Given the description of an element on the screen output the (x, y) to click on. 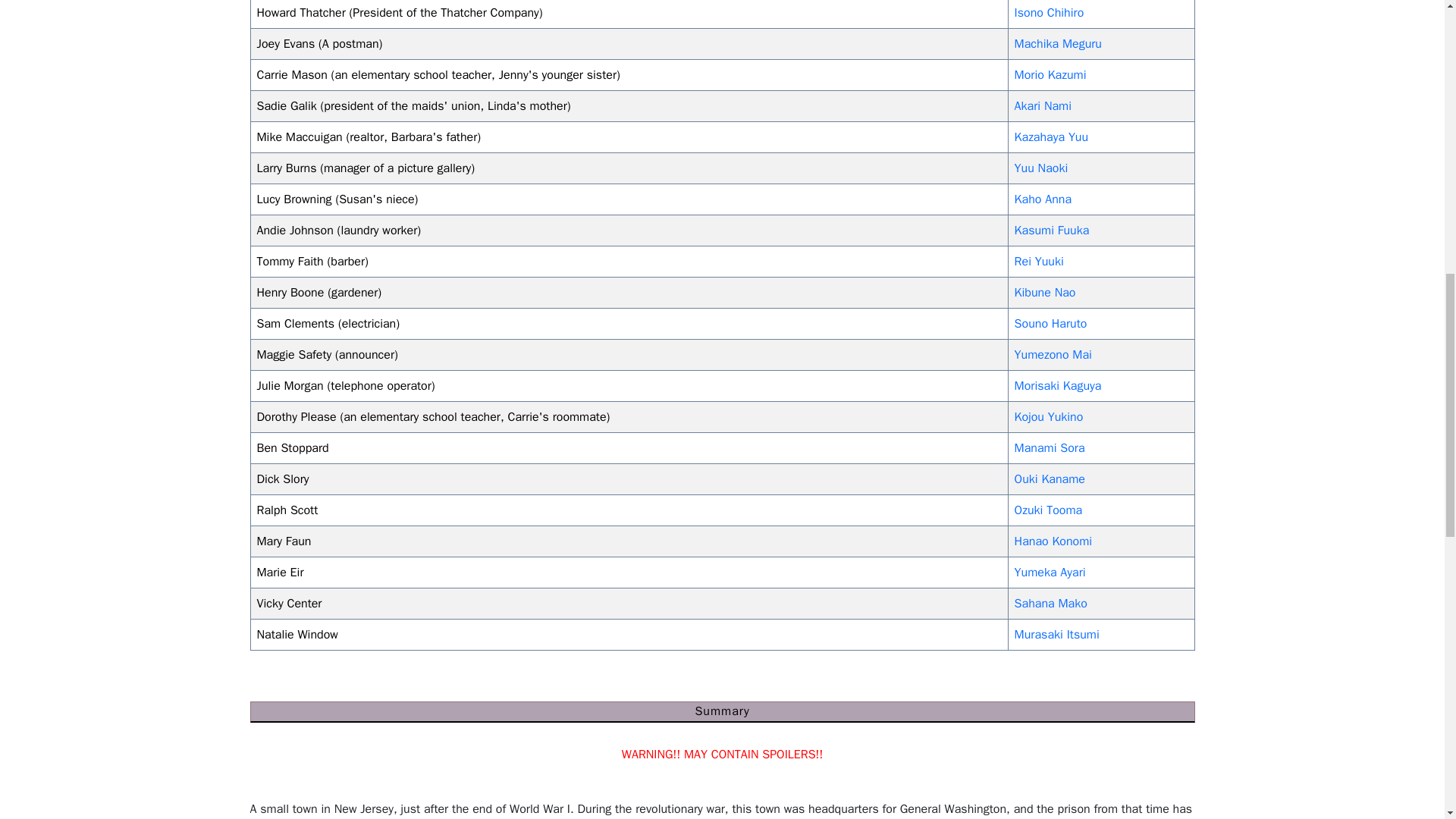
Kasumi Fuuka (1051, 230)
Yumezono Mai (1053, 354)
Kazahaya Yuu (1050, 136)
Kaho Anna (1042, 199)
Kaho Anna (1042, 199)
Manami Sora (1049, 447)
Akari Nami (1042, 105)
Akari Nami (1042, 105)
Morisaki Kaguya (1058, 385)
Machika Meguru (1058, 43)
